Given the description of an element on the screen output the (x, y) to click on. 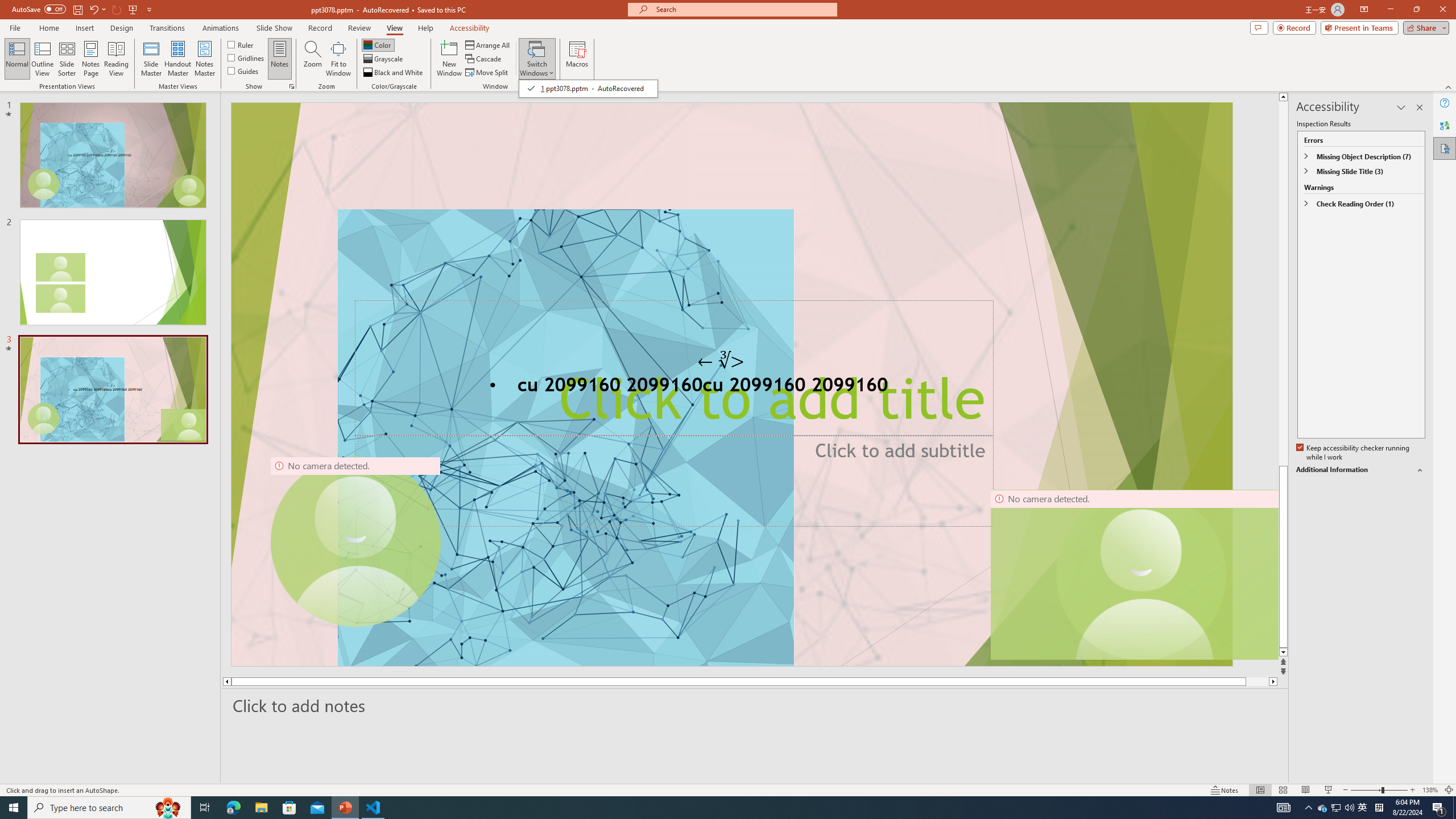
Additional Information (1360, 469)
Notes Page (90, 58)
Zoom... (312, 58)
Handout Master (177, 58)
Outline View (42, 58)
Move Split (487, 72)
